Given the description of an element on the screen output the (x, y) to click on. 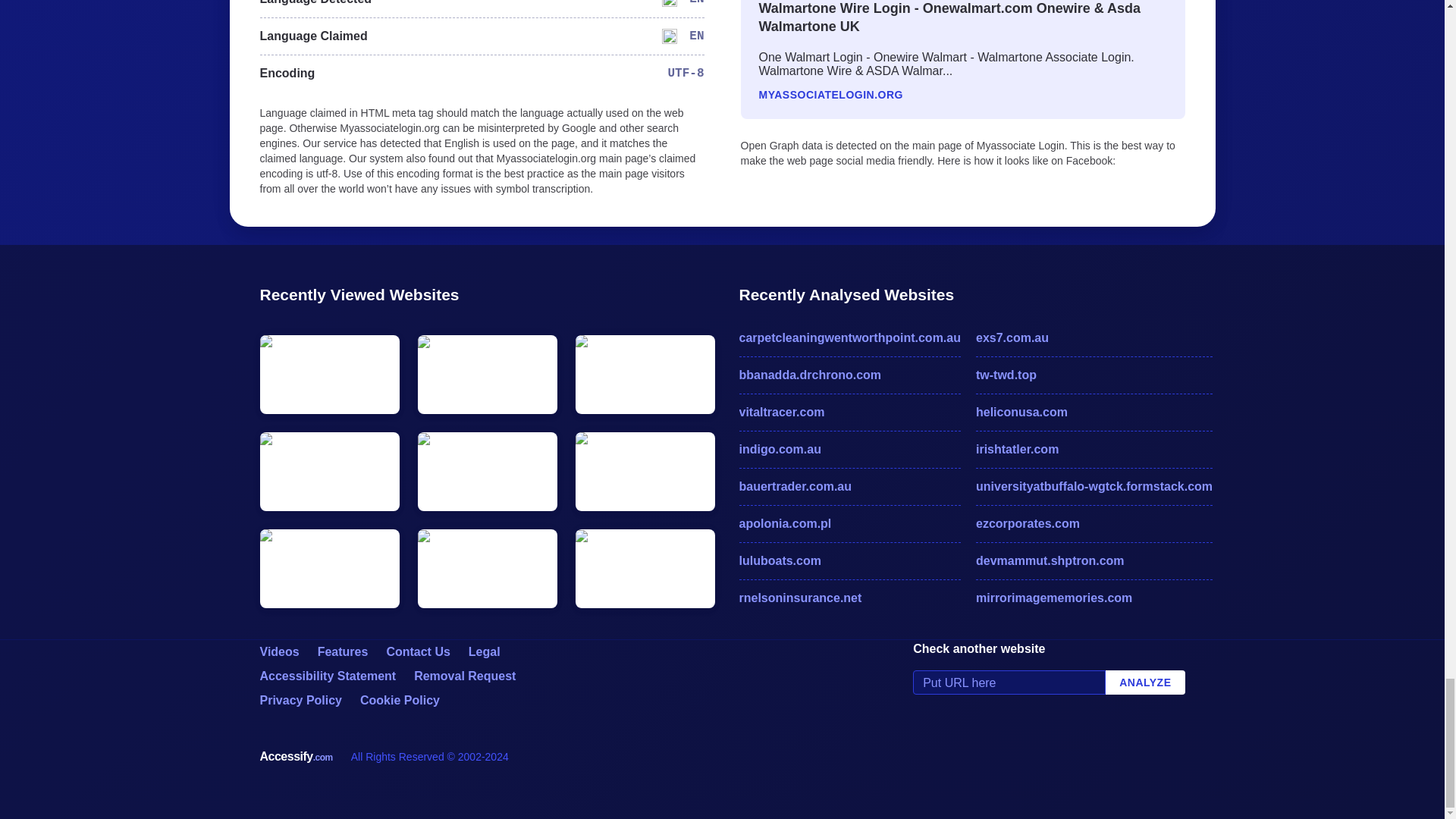
indigo.com.au (848, 449)
Screencasts: video tutorials and guides (278, 651)
bbanadda.drchrono.com (848, 375)
Contact Us (417, 651)
universityatbuffalo-wgtck.formstack.com (1093, 486)
apolonia.com.pl (848, 524)
carpetcleaningwentworthpoint.com.au (848, 338)
ezcorporates.com (1093, 524)
mirrorimagememories.com (1093, 597)
vitaltracer.com (848, 412)
bauertrader.com.au (848, 486)
devmammut.shptron.com (1093, 561)
Legal (484, 651)
exs7.com.au (1093, 338)
Videos (278, 651)
